Given the description of an element on the screen output the (x, y) to click on. 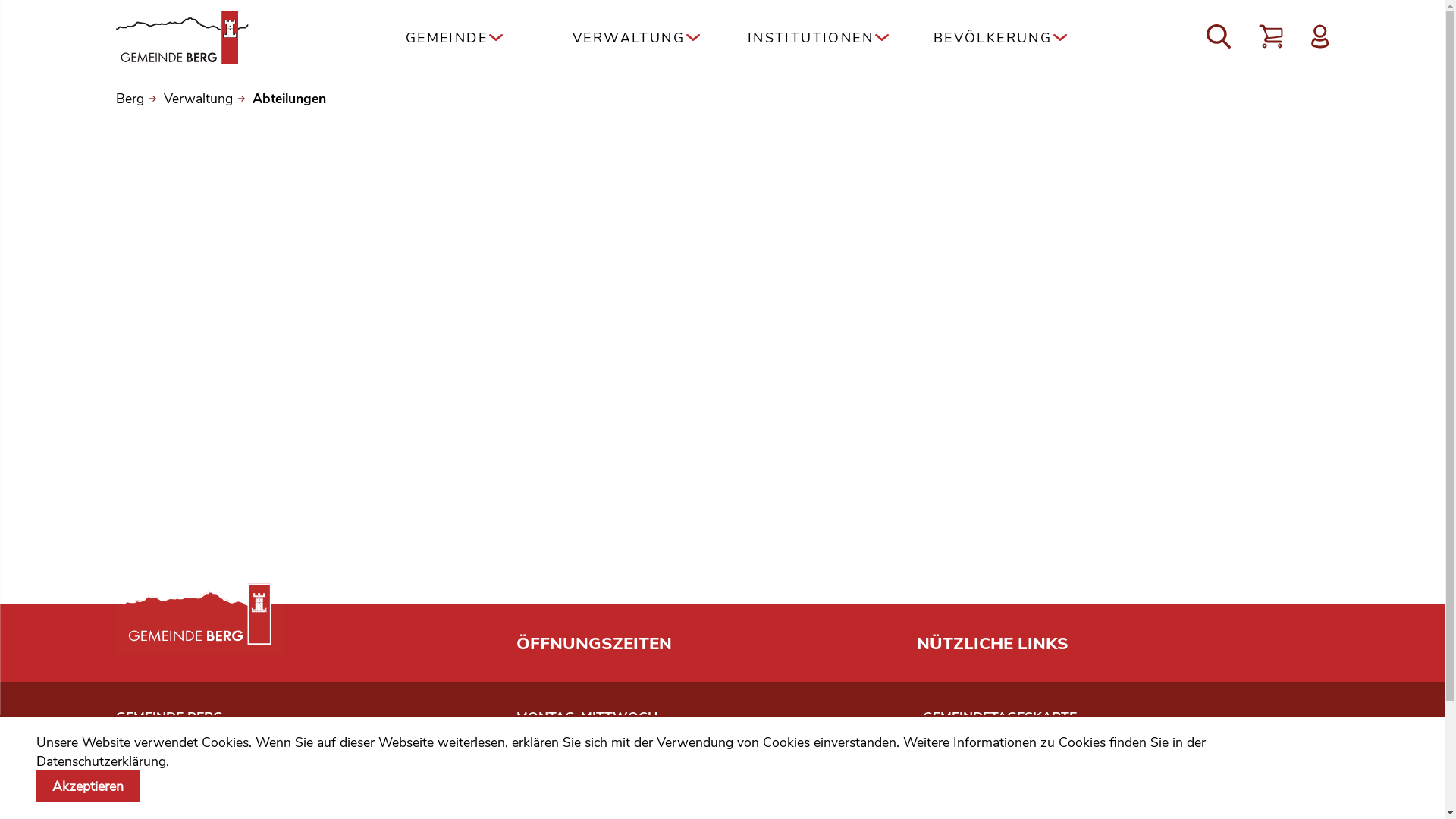
GEMEINDETAGESKARTE Element type: text (999, 717)
GEMEINDE Element type: text (454, 37)
VERWALTUNG Element type: text (636, 37)
INSTITUTIONEN Element type: text (818, 37)
Verwaltung Element type: text (204, 98)
Berg Element type: text (135, 98)
Akzeptieren Element type: text (87, 785)
